Given the description of an element on the screen output the (x, y) to click on. 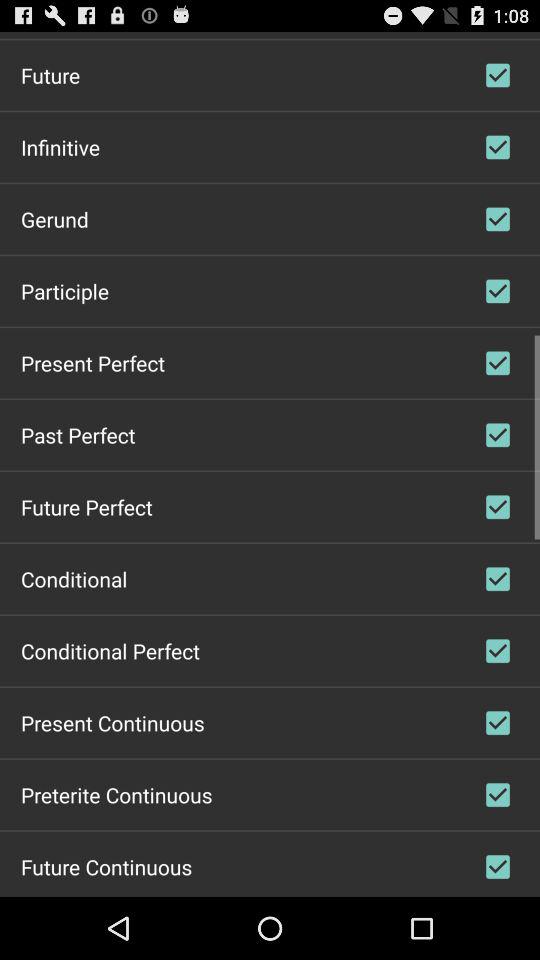
click the icon below the present continuous item (116, 794)
